Given the description of an element on the screen output the (x, y) to click on. 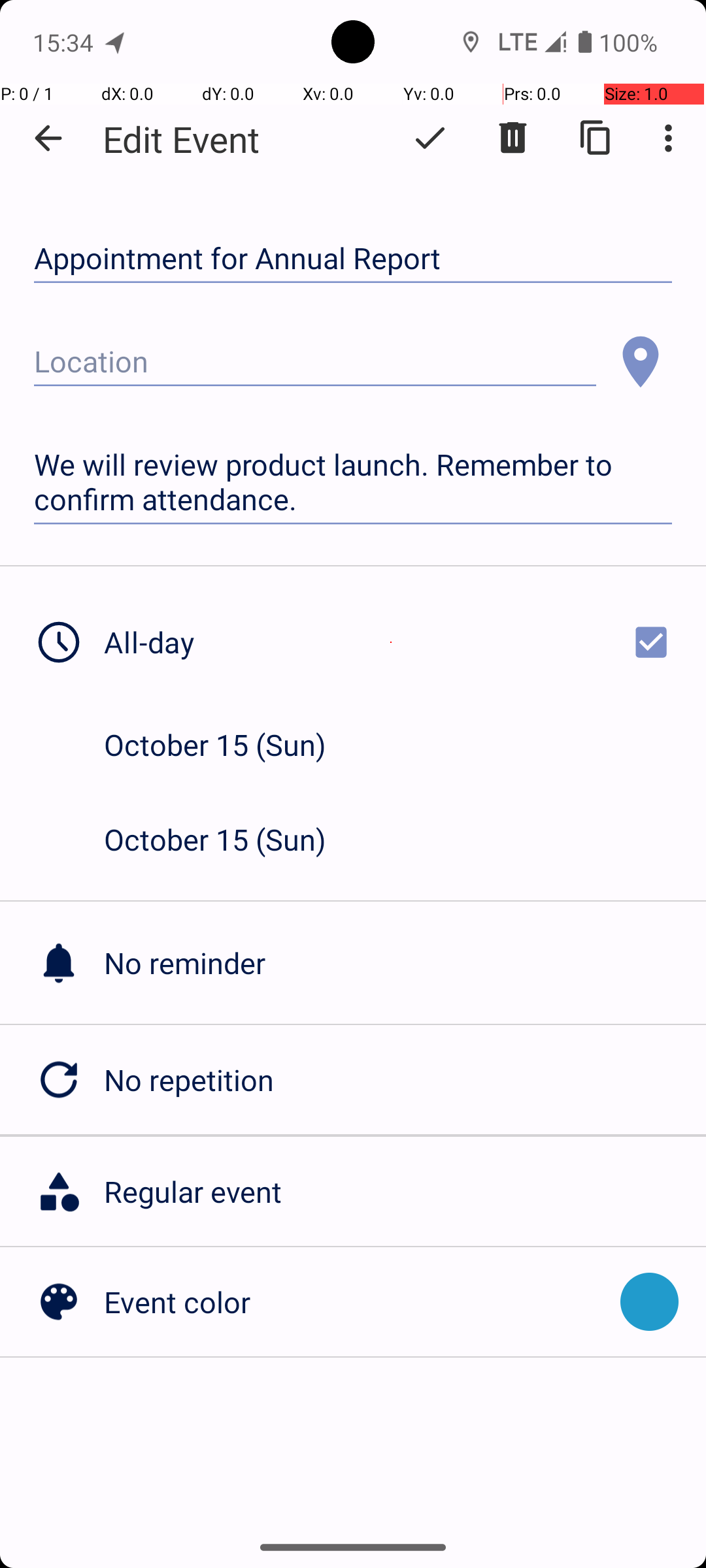
We will review product launch. Remember to confirm attendance. Element type: android.widget.EditText (352, 482)
